Given the description of an element on the screen output the (x, y) to click on. 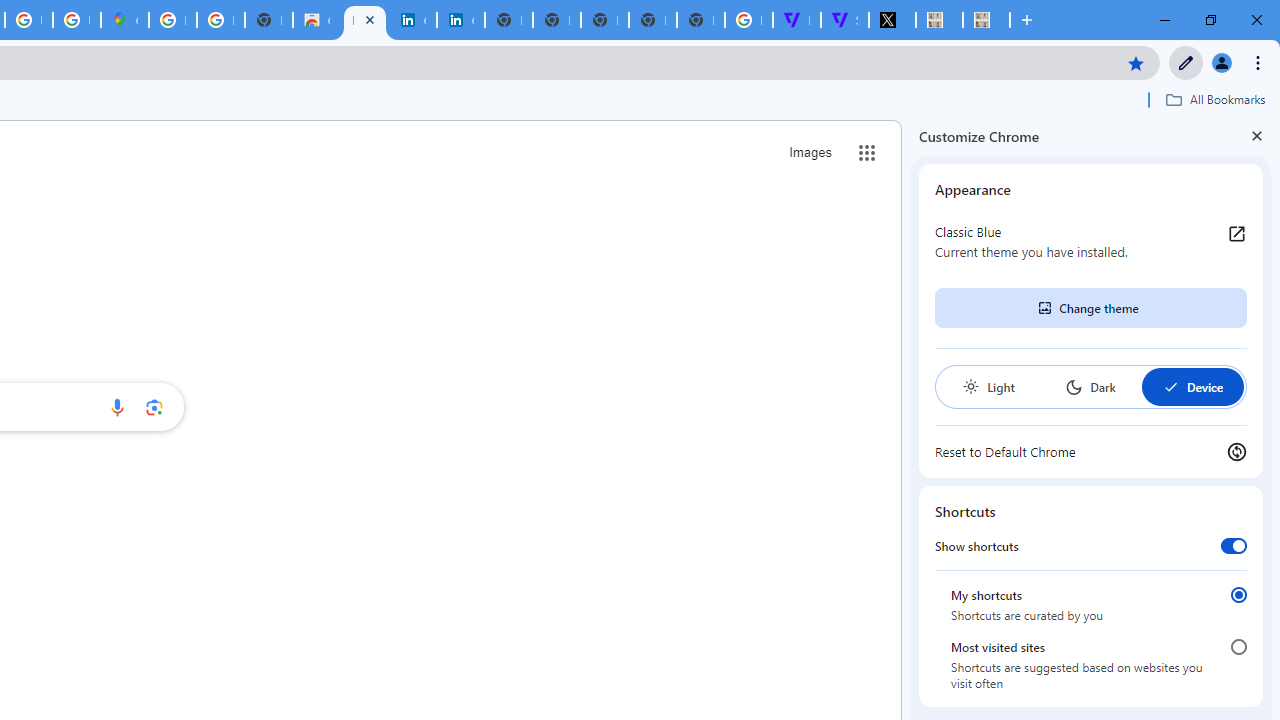
Show shortcuts (1233, 545)
MILEY CYRUS. (985, 20)
Change theme (1090, 308)
My shortcuts (1238, 594)
Device (1192, 386)
Most visited sites (1238, 647)
Streaming - The Verge (844, 20)
Google Maps (124, 20)
